Given the description of an element on the screen output the (x, y) to click on. 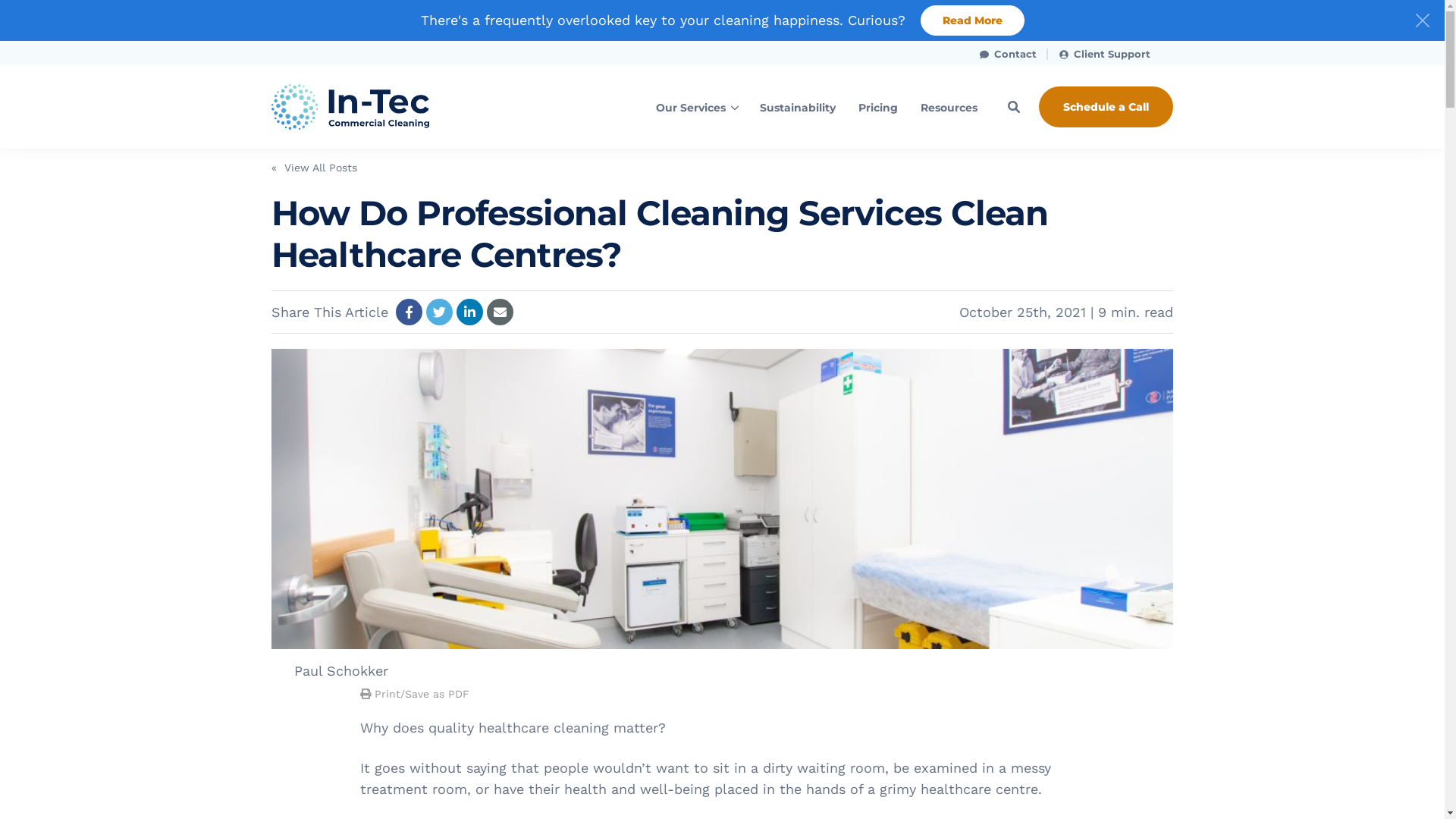
Schedule a Call Element type: text (1105, 106)
Share on Facebook Element type: hover (408, 311)
Resources Element type: text (948, 106)
Print/Save as PDF Element type: text (414, 693)
Share on Linkedin Element type: hover (469, 311)
Sustainability Element type: text (797, 106)
Client Support Element type: text (1104, 52)
Share on Twitter Element type: hover (439, 311)
Paul Schokker Element type: text (341, 670)
In-Tec Commercial Cleaning Element type: hover (373, 106)
Share via Email Element type: hover (499, 311)
Read More Element type: text (972, 20)
Pricing Element type: text (878, 106)
Contact Element type: text (1008, 52)
Open Search Element type: text (1013, 106)
